Given the description of an element on the screen output the (x, y) to click on. 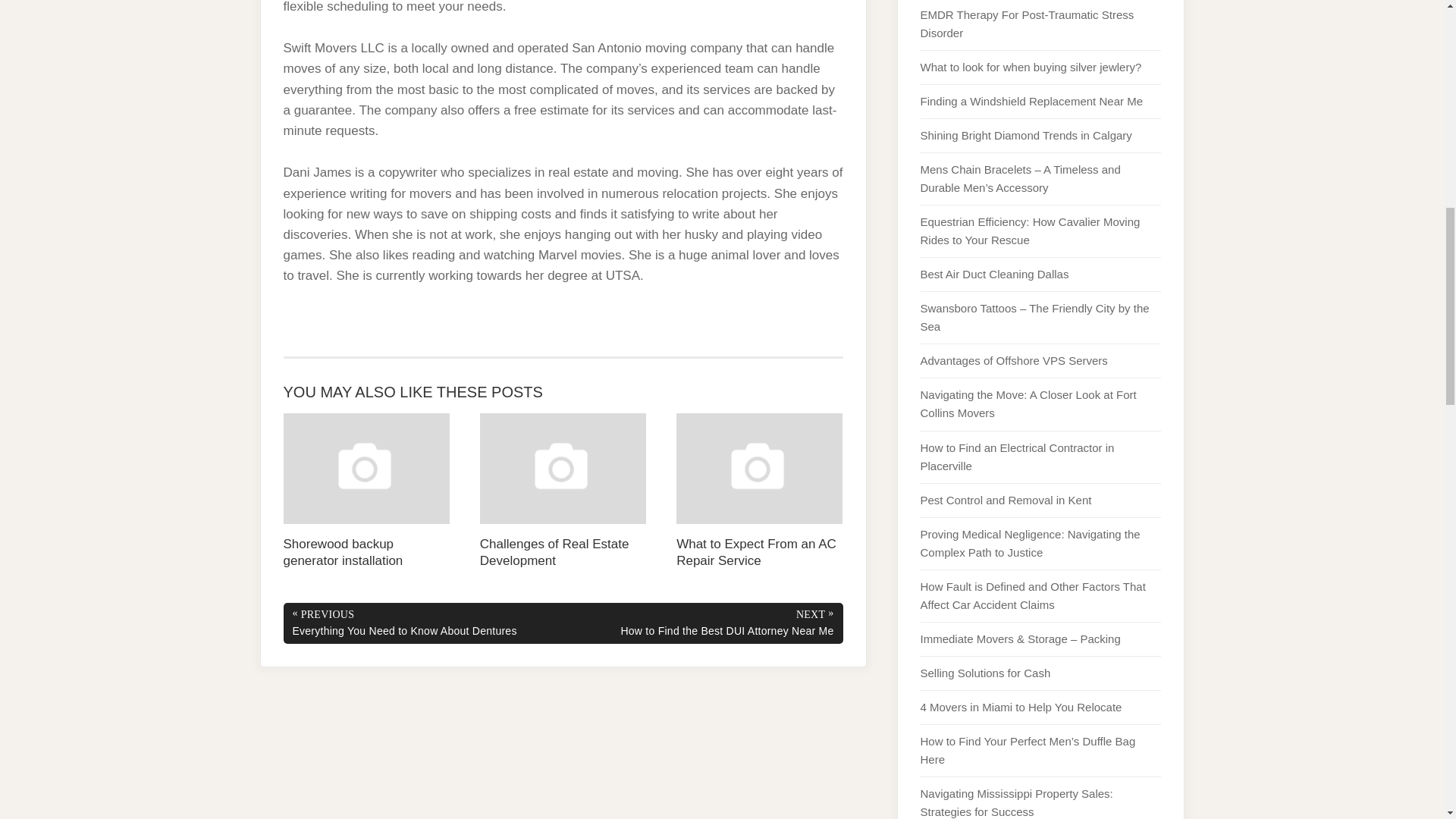
Pest Control and Removal in Kent (1006, 499)
Shorewood backup generator installation (366, 491)
What to Expect From an AC Repair Service (760, 491)
How to Find an Electrical Contractor in Placerville (1017, 456)
What to Expect From an AC Repair Service (760, 491)
Advantages of Offshore VPS Servers (1014, 359)
Shorewood backup generator installation (366, 491)
Best Air Duct Cleaning Dallas (994, 273)
Shining Bright Diamond Trends in Calgary (1026, 134)
Challenges of Real Estate Development (563, 491)
Challenges of Real Estate Development (563, 491)
EMDR Therapy For Post-Traumatic Stress Disorder (1027, 23)
Finding a Windshield Replacement Near Me (1031, 101)
Navigating the Move: A Closer Look at Fort Collins Movers (1028, 403)
